Given the description of an element on the screen output the (x, y) to click on. 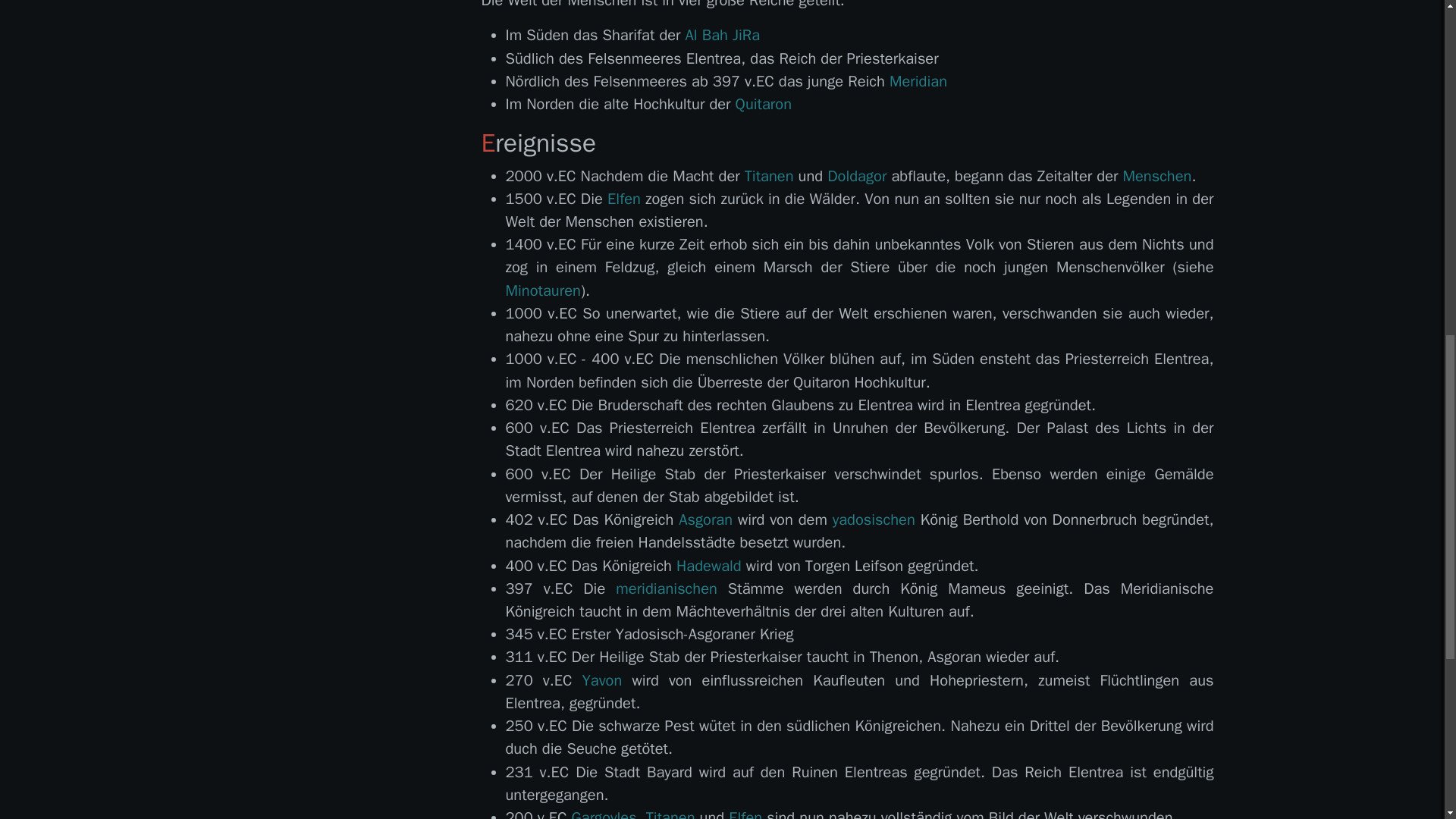
Minotauren (542, 290)
Menschen (1156, 176)
Elfen (623, 198)
Titanen (768, 176)
Meridian (918, 81)
Doldagor (856, 176)
Asgoran (705, 519)
Al Bah JiRa (722, 35)
Quitaron (763, 104)
